Given the description of an element on the screen output the (x, y) to click on. 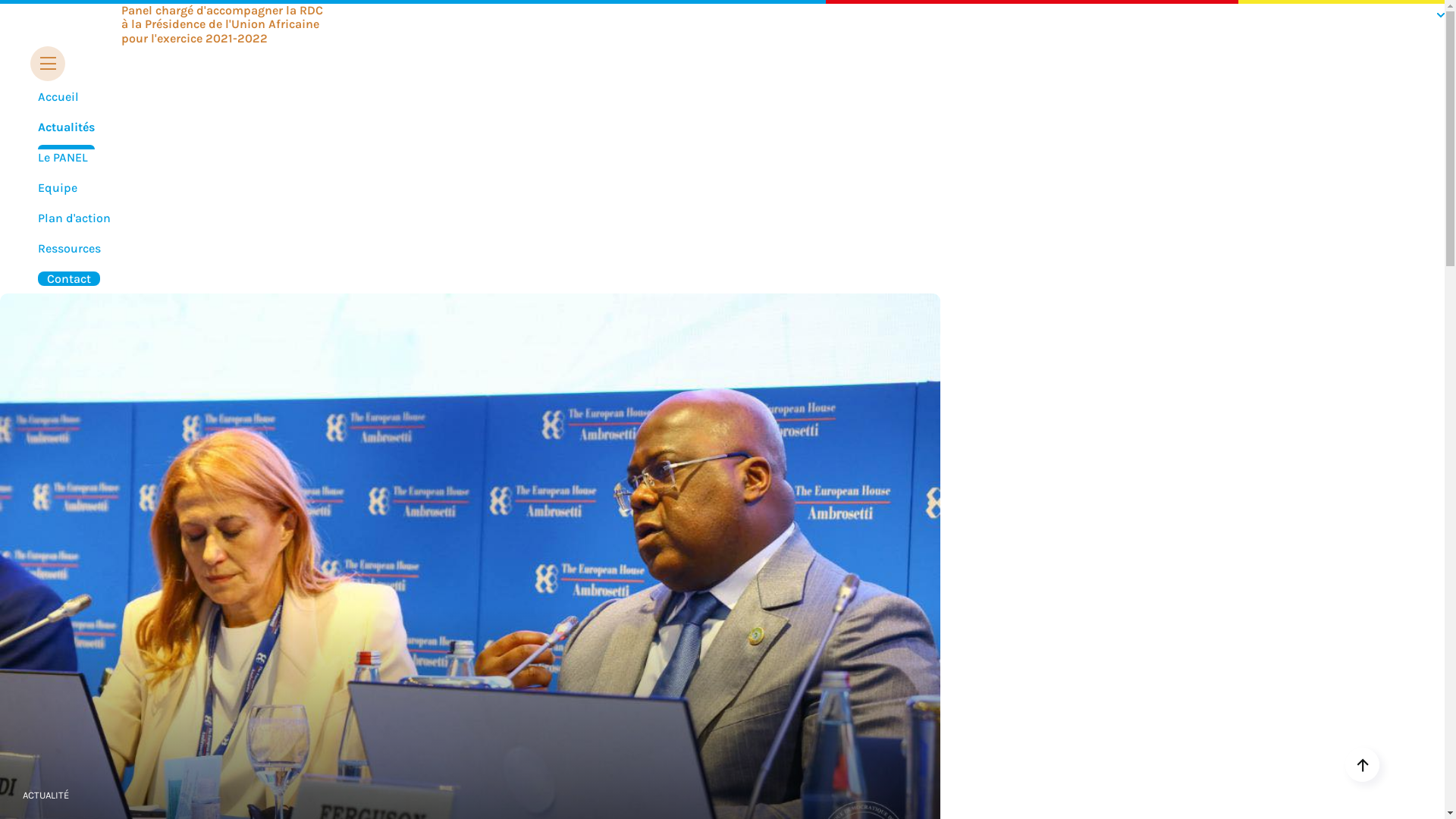
Plan d'action Element type: text (73, 217)
Le PANEL Element type: text (62, 157)
Equipe Element type: text (57, 187)
Contact Element type: text (68, 278)
Ressources Element type: text (68, 248)
Accueil Element type: text (57, 96)
